Given the description of an element on the screen output the (x, y) to click on. 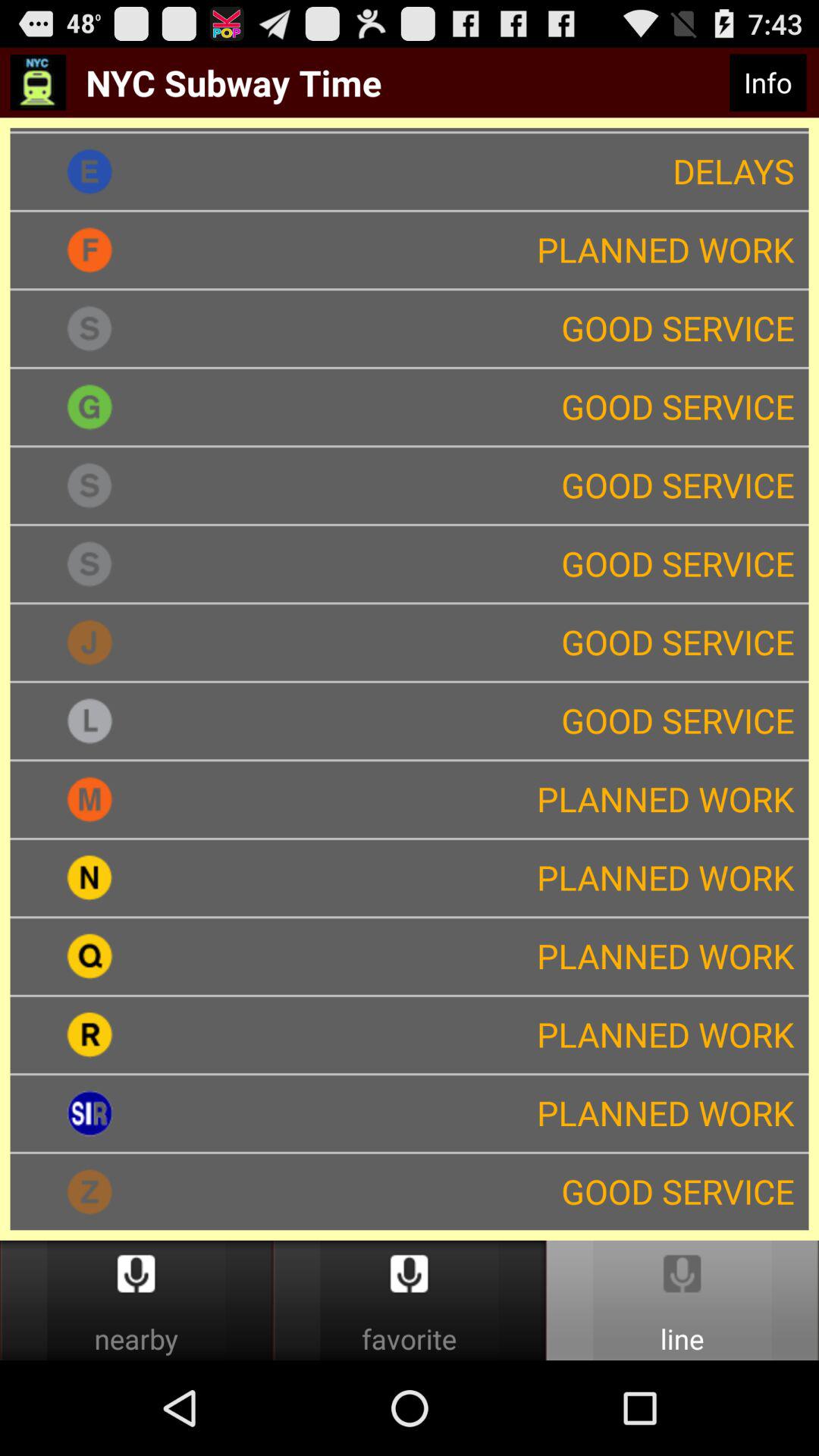
choose the info item (767, 82)
